Given the description of an element on the screen output the (x, y) to click on. 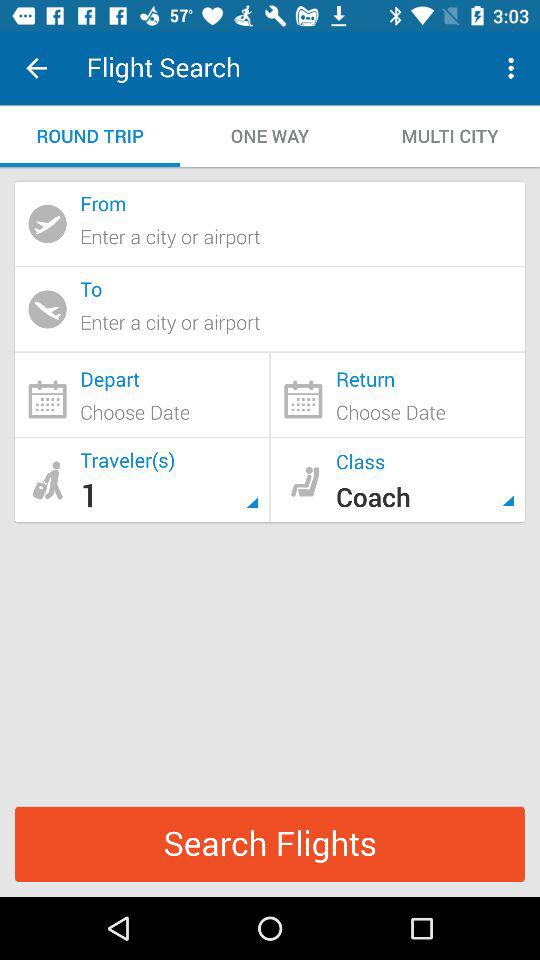
press item to the left of the flight search (36, 68)
